Given the description of an element on the screen output the (x, y) to click on. 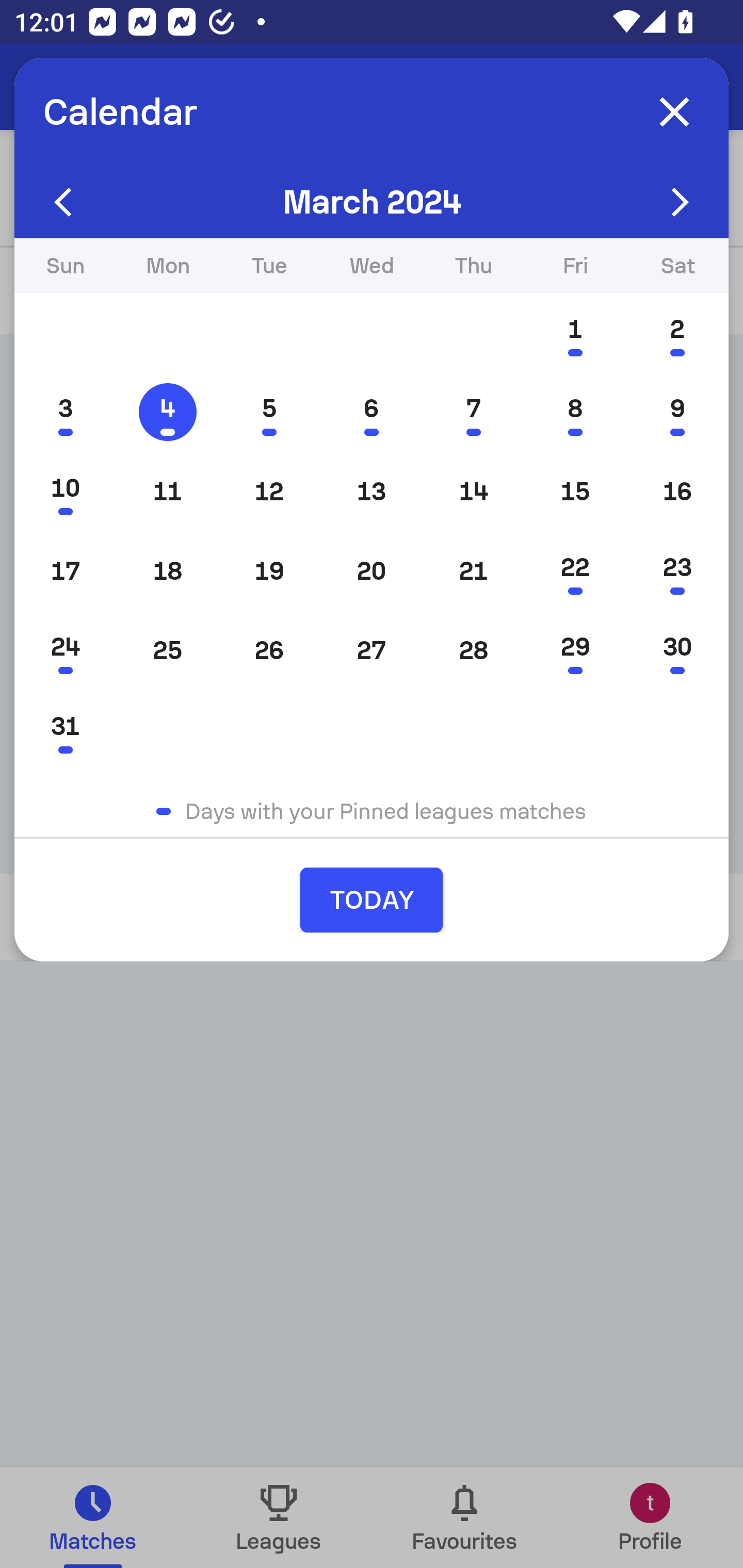
1 (575, 333)
2 (677, 333)
3 (65, 412)
4 (167, 412)
5 (269, 412)
6 (371, 412)
7 (473, 412)
8 (575, 412)
9 (677, 412)
10 (65, 491)
11 (167, 491)
12 (269, 491)
13 (371, 491)
14 (473, 491)
15 (575, 491)
16 (677, 491)
17 (65, 570)
18 (167, 570)
19 (269, 570)
20 (371, 570)
21 (473, 570)
22 (575, 570)
23 (677, 570)
24 (65, 649)
25 (167, 649)
26 (269, 649)
27 (371, 649)
28 (473, 649)
29 (575, 649)
30 (677, 649)
31 (65, 729)
TODAY (371, 899)
